Given the description of an element on the screen output the (x, y) to click on. 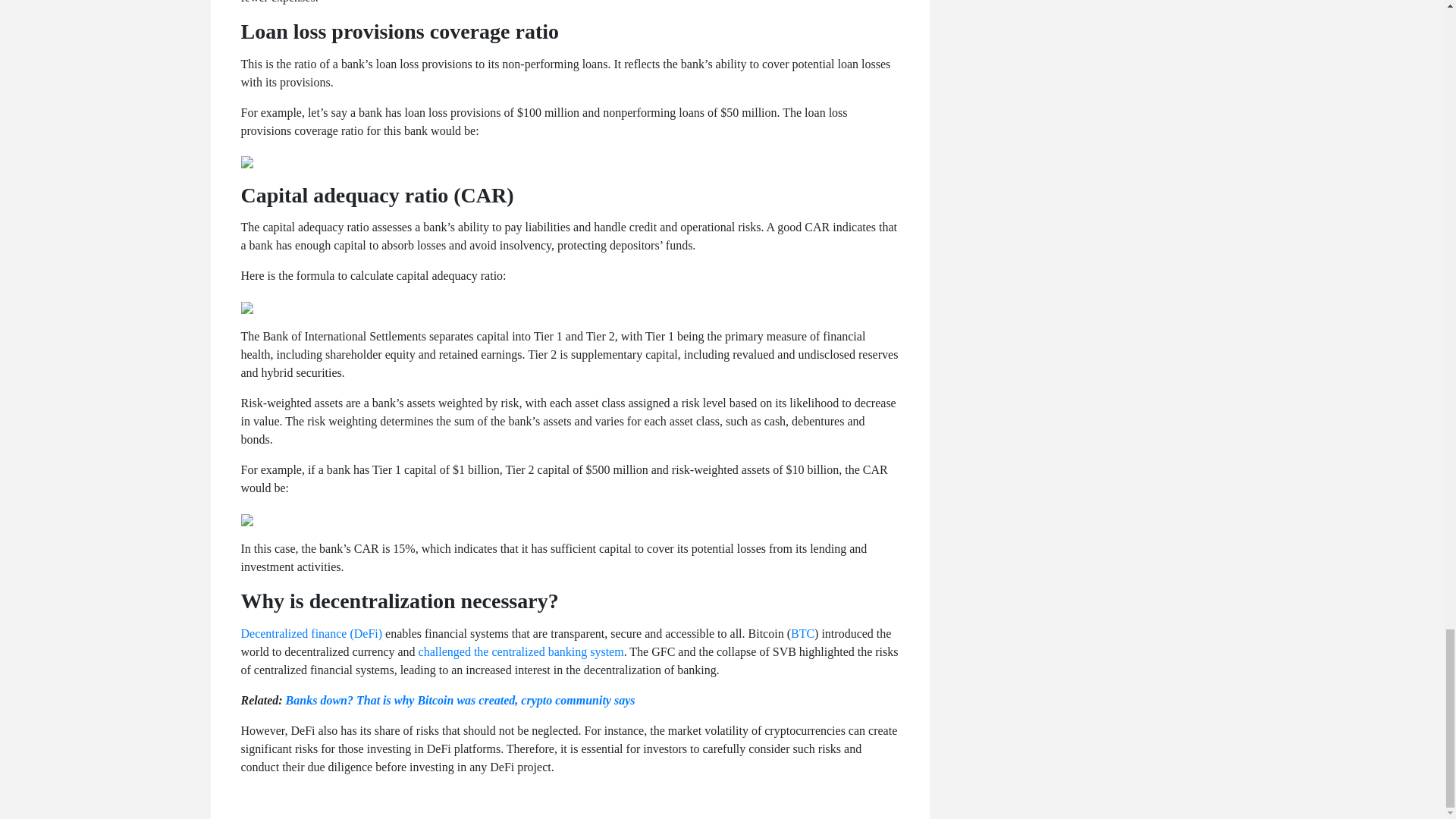
challenged the centralized banking system (521, 651)
BTC (801, 633)
